Given the description of an element on the screen output the (x, y) to click on. 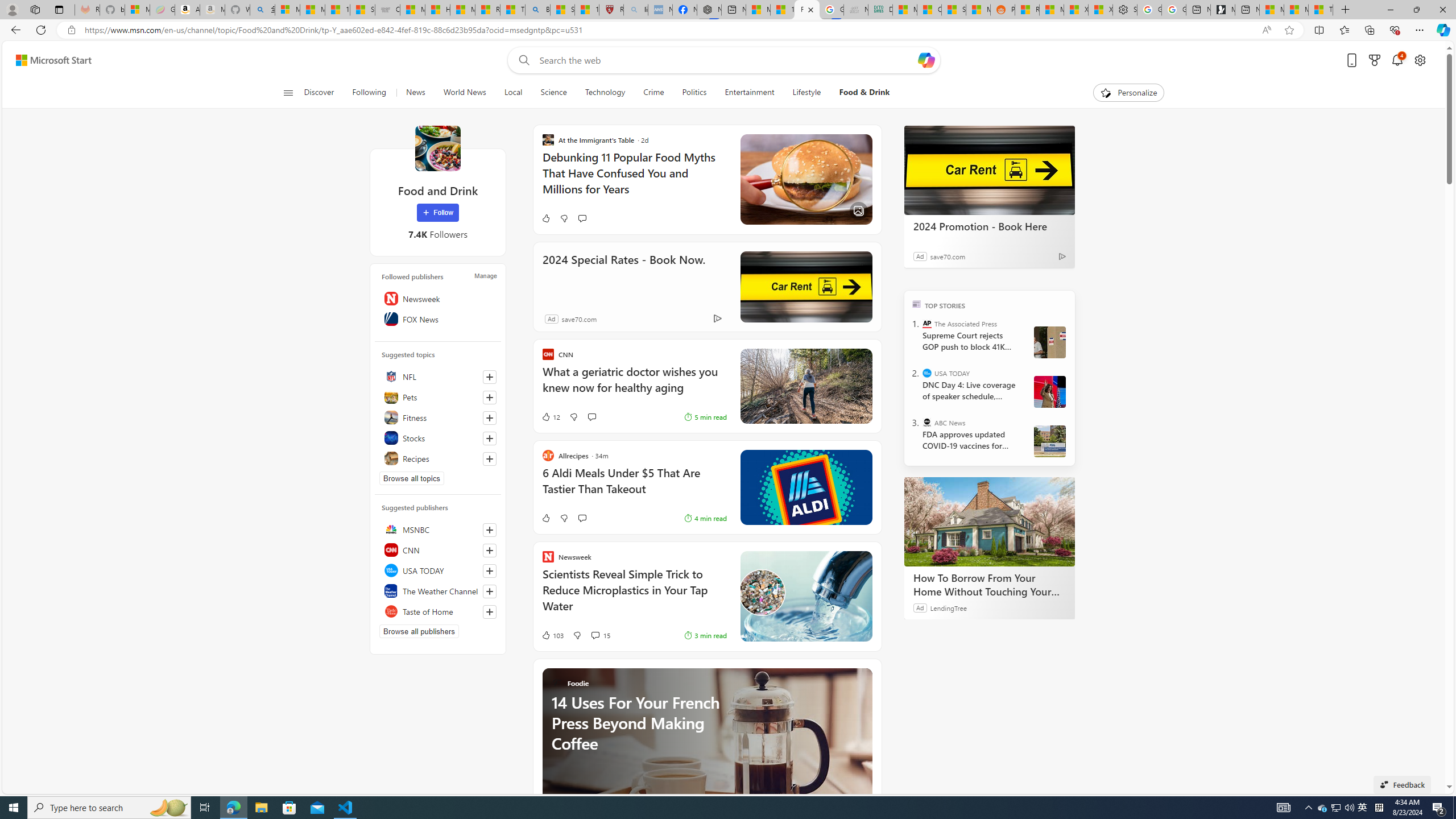
Food and Drink - MSN (807, 9)
Follow (437, 212)
